Given the description of an element on the screen output the (x, y) to click on. 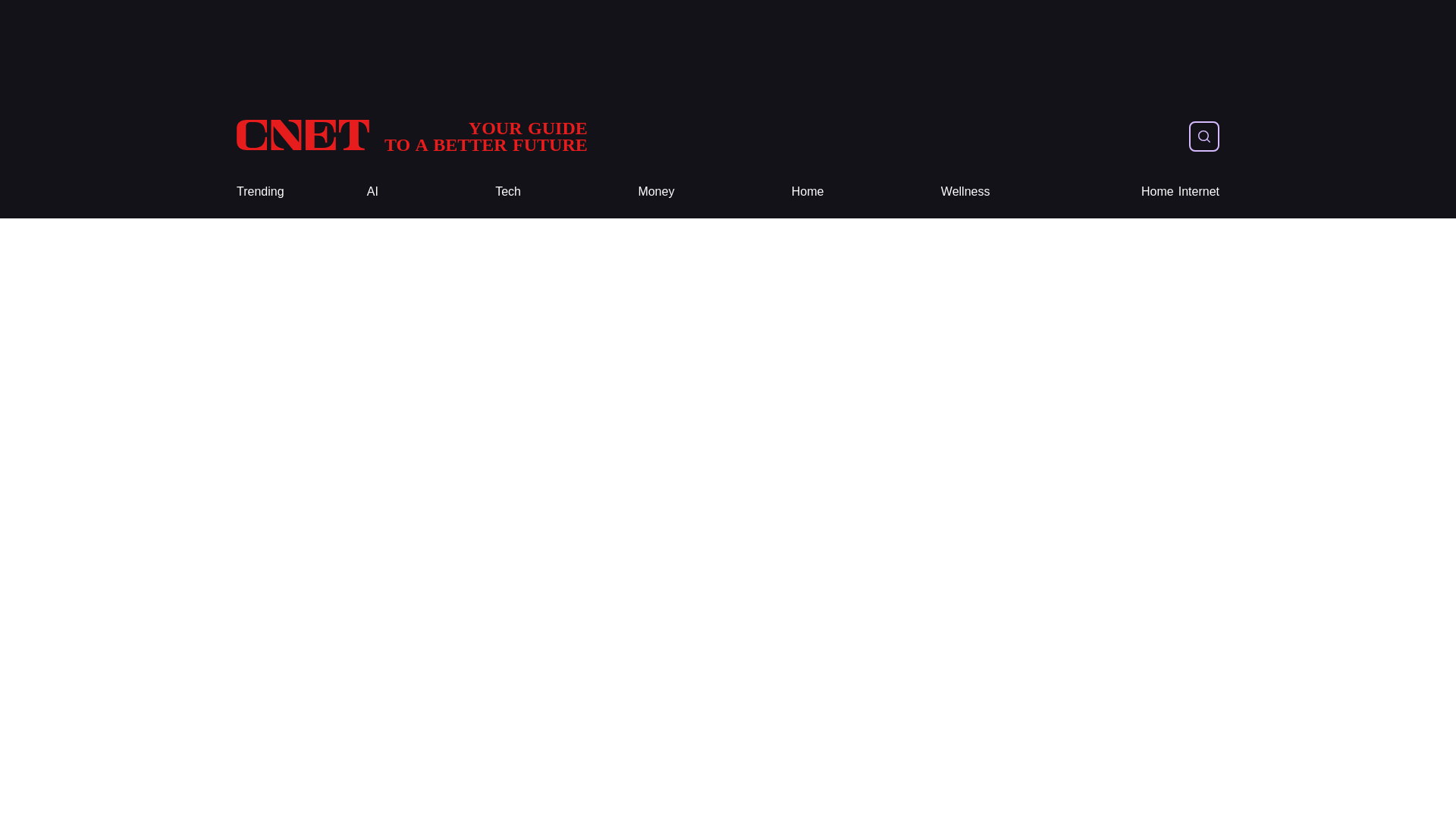
CNET (411, 136)
Tech (411, 136)
Home (508, 191)
Wellness (808, 191)
Trending (965, 191)
Home Internet (259, 191)
Wellness (1180, 191)
Money (965, 191)
Home (655, 191)
